Given the description of an element on the screen output the (x, y) to click on. 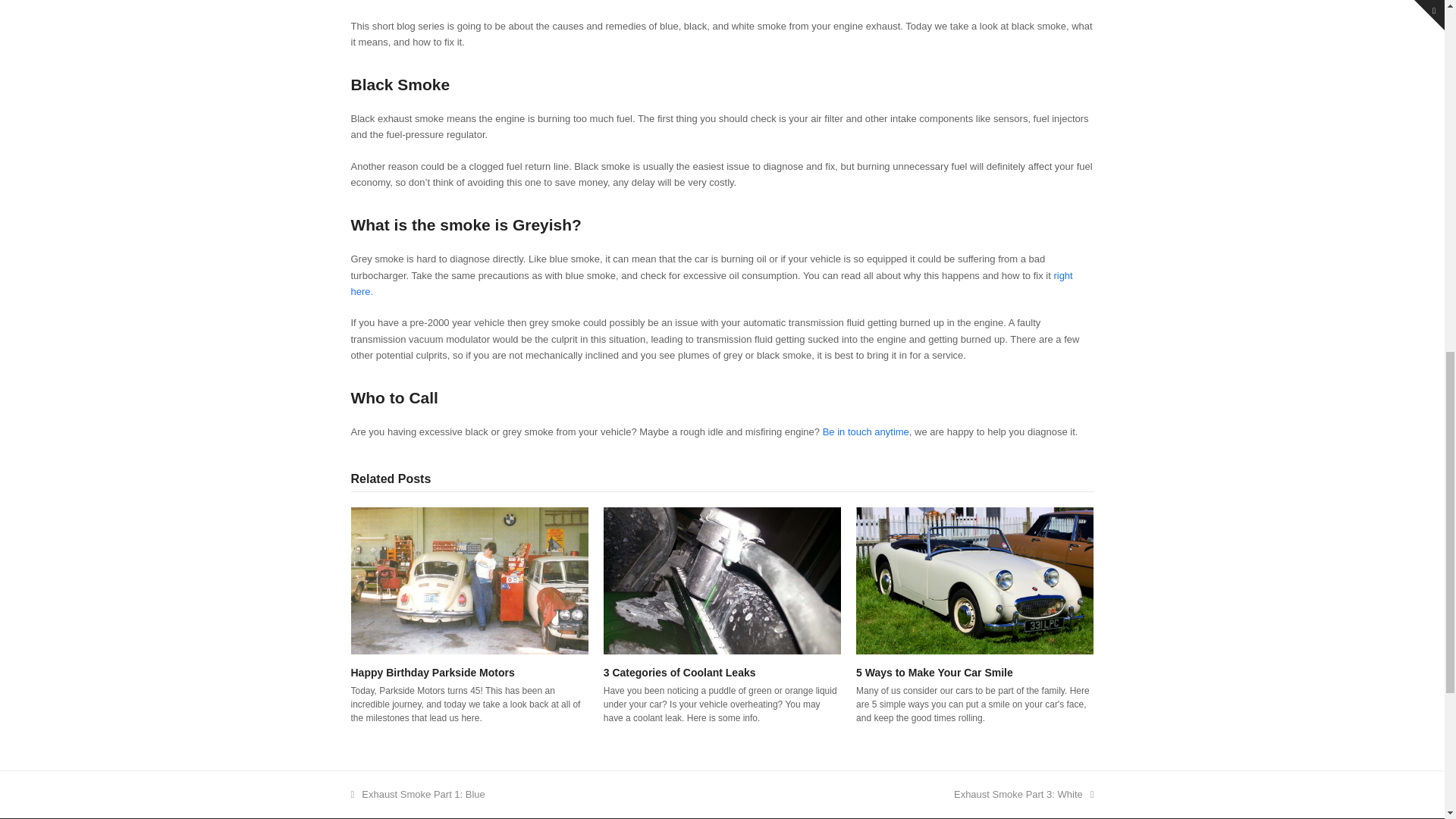
3 Categories of Coolant Leaks (722, 579)
Why is blue smoke coming out of my exhaust pipe? (710, 283)
5 Ways to Make Your Car Smile (974, 579)
Happy Birthday Parkside Motors (469, 579)
